Given the description of an element on the screen output the (x, y) to click on. 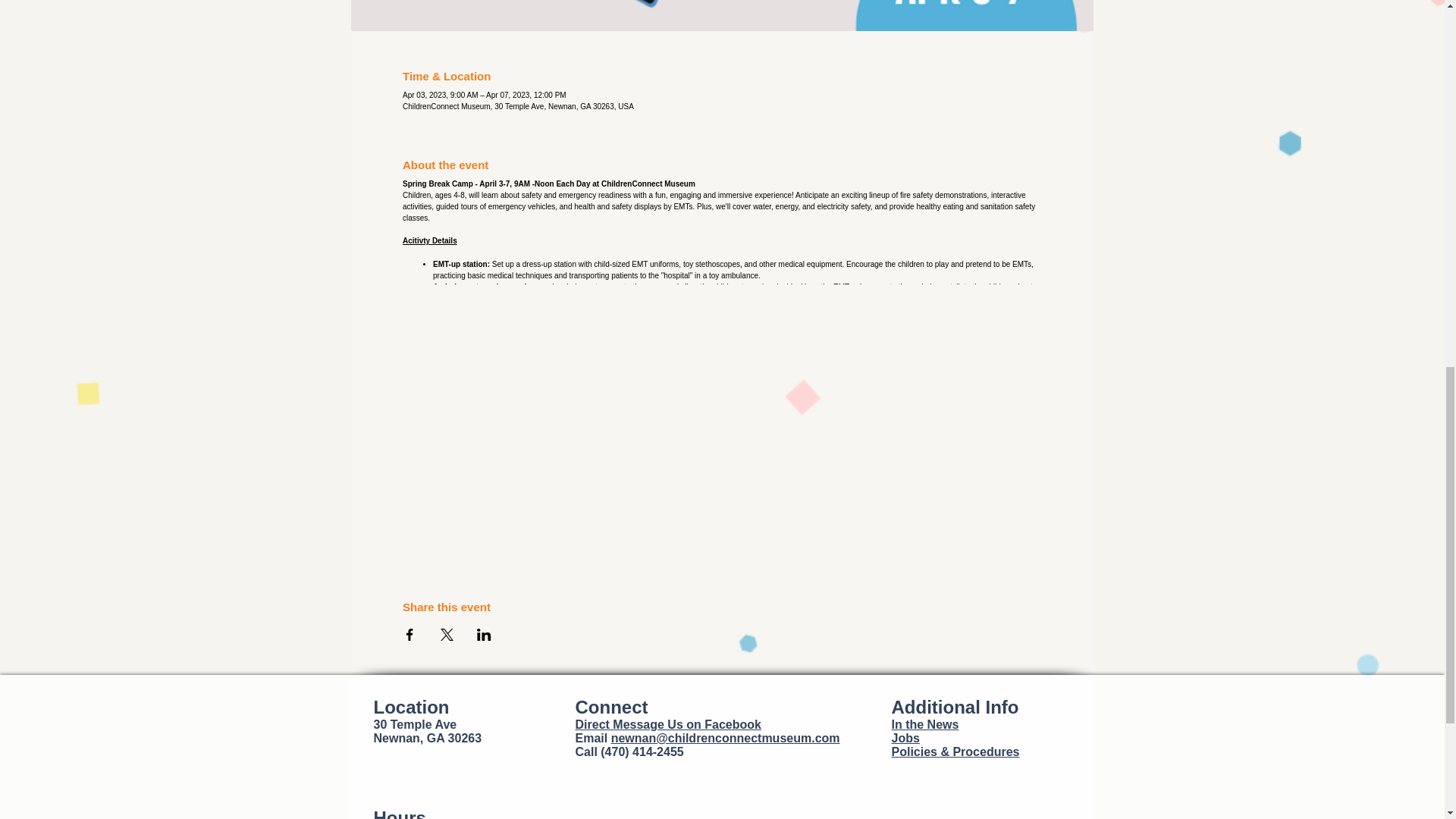
Connect (611, 706)
e Us on Facebook (709, 724)
Jobs (905, 738)
Additional Info (955, 706)
In the News (925, 724)
Hours (398, 813)
Direct Messag (616, 724)
